Given the description of an element on the screen output the (x, y) to click on. 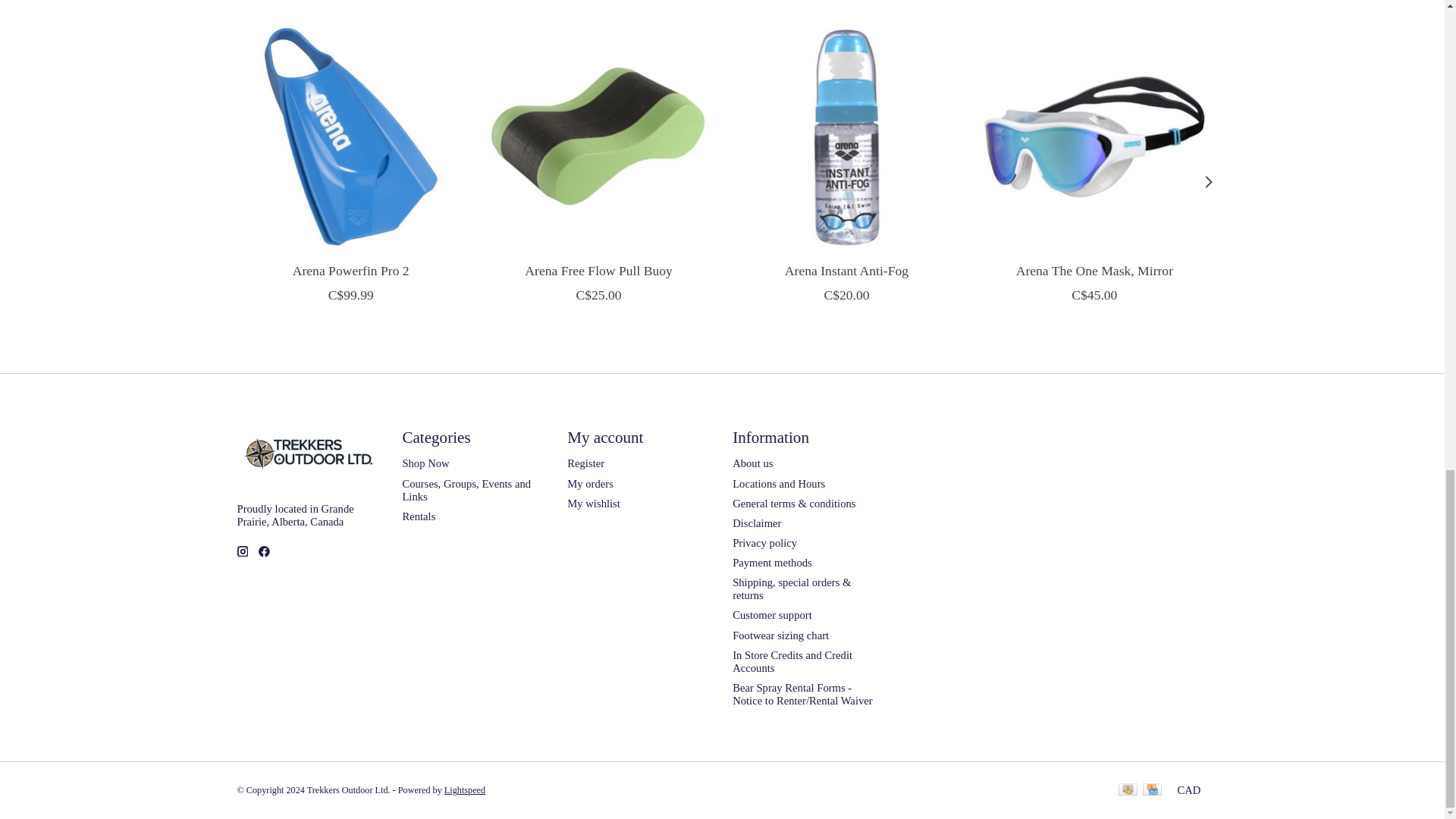
Arena Arena Free Flow Pull Buoy (597, 136)
Arena Arena Powerfin Pro 2 (349, 136)
